Given the description of an element on the screen output the (x, y) to click on. 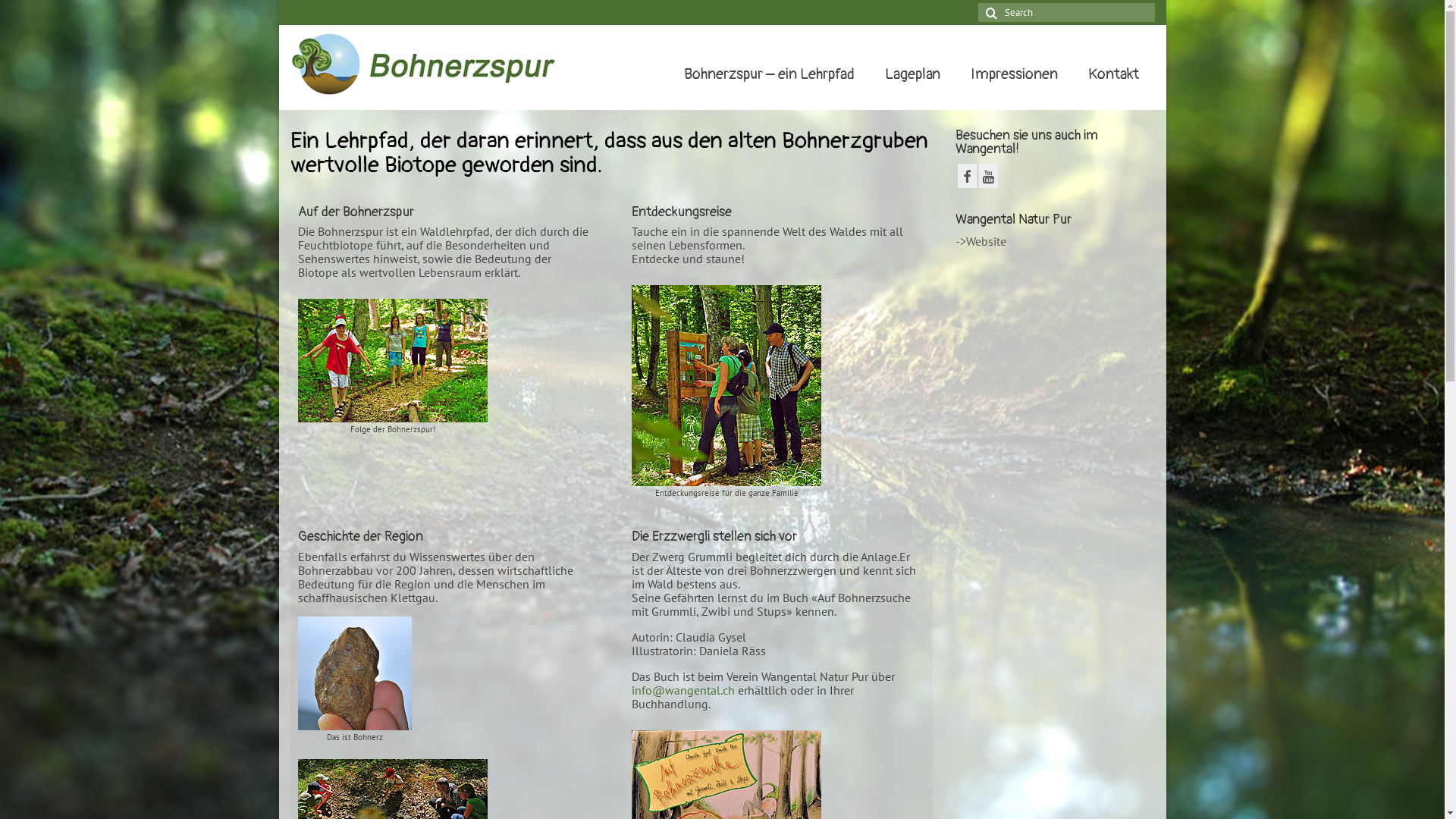
Impressionen Element type: text (1014, 74)
Lageplan Element type: text (912, 74)
->Website Element type: text (980, 240)
info@wangental.ch Element type: text (682, 689)
Kontakt Element type: text (1113, 74)
